Given the description of an element on the screen output the (x, y) to click on. 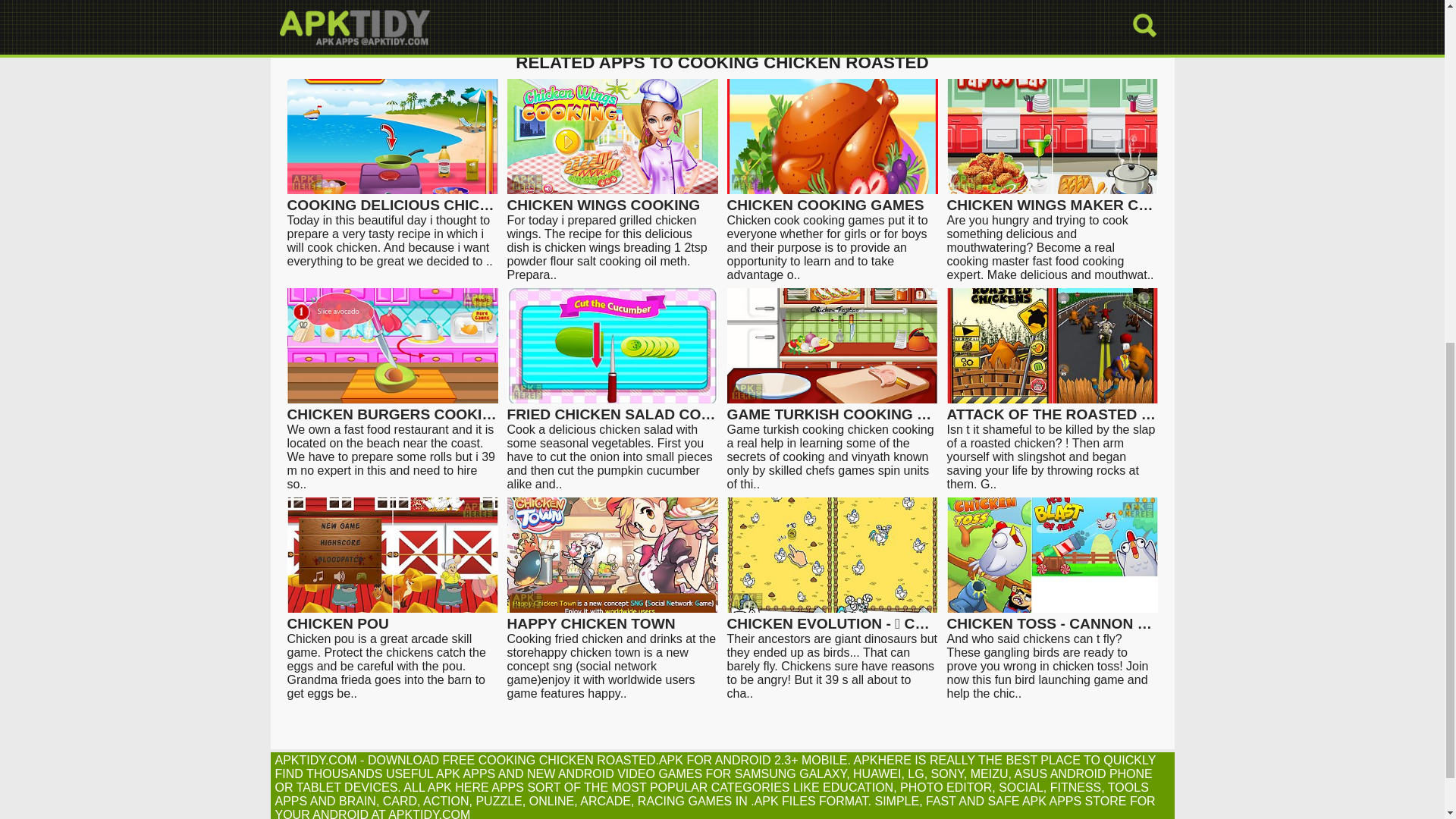
CHICKEN COOKING GAMES (831, 198)
FRIED CHICKEN SALAD COOKING (611, 408)
CHICKEN TOSS - CANNON LAUNCHER (1051, 616)
CHICKEN BURGERS COOKING GAMES (391, 408)
CHICKEN WINGS MAKER COOKING (1051, 198)
CHICKEN POU (391, 616)
ATTACK OF THE ROASTED CHICKENS (1051, 408)
HAPPY CHICKEN TOWN (611, 616)
GAME TURKISH COOKING CHICKEN (831, 408)
COOKING DELICIOUS CHICKEN (391, 198)
